Given the description of an element on the screen output the (x, y) to click on. 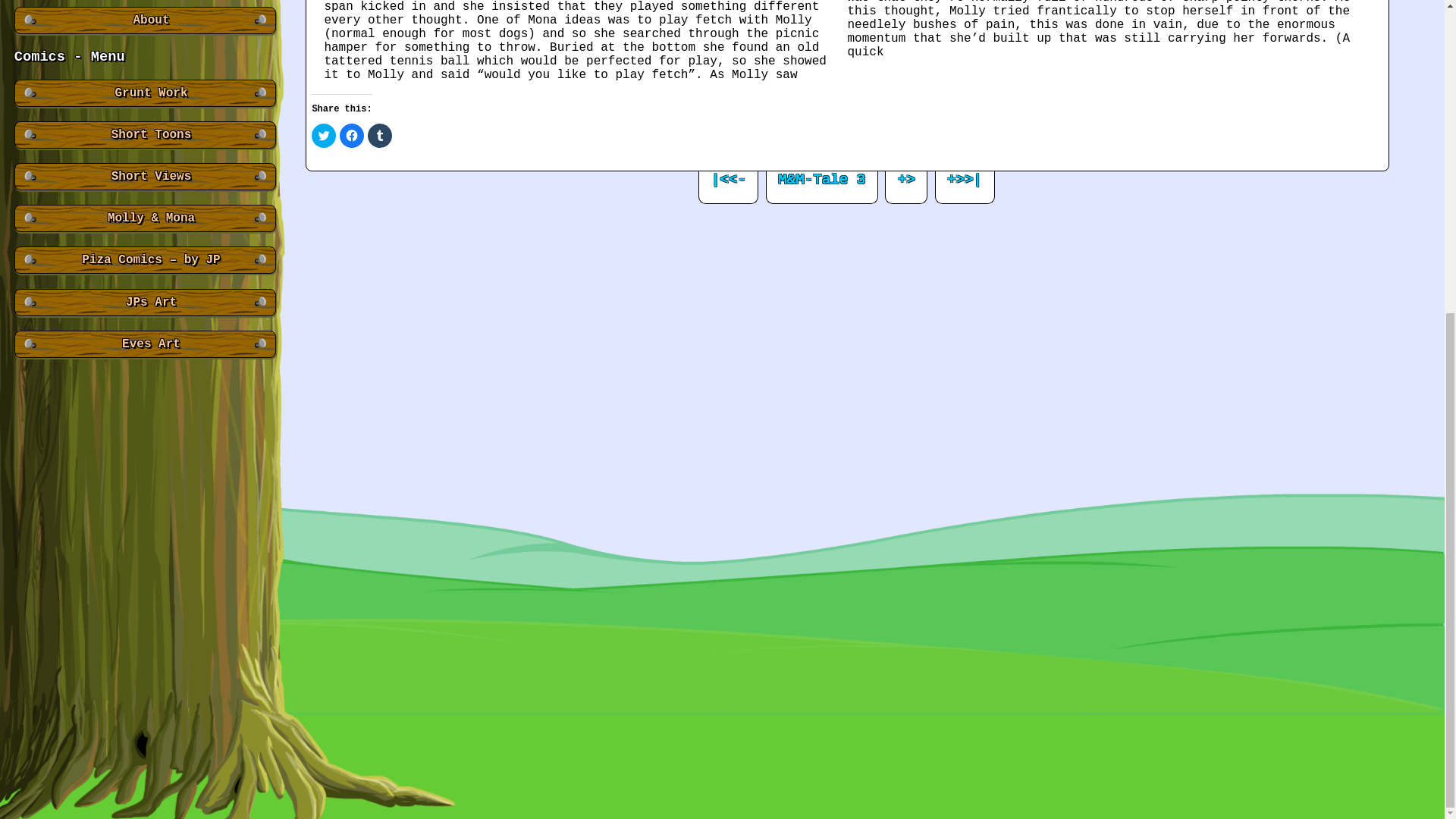
Eves Art (144, 344)
JPs Art (144, 302)
Short Views (144, 176)
Click to share on Twitter (323, 135)
About (144, 20)
Short Toons (144, 135)
Click to share on Tumblr (379, 135)
Click to share on Facebook (351, 135)
Grunt Work (144, 93)
